Given the description of an element on the screen output the (x, y) to click on. 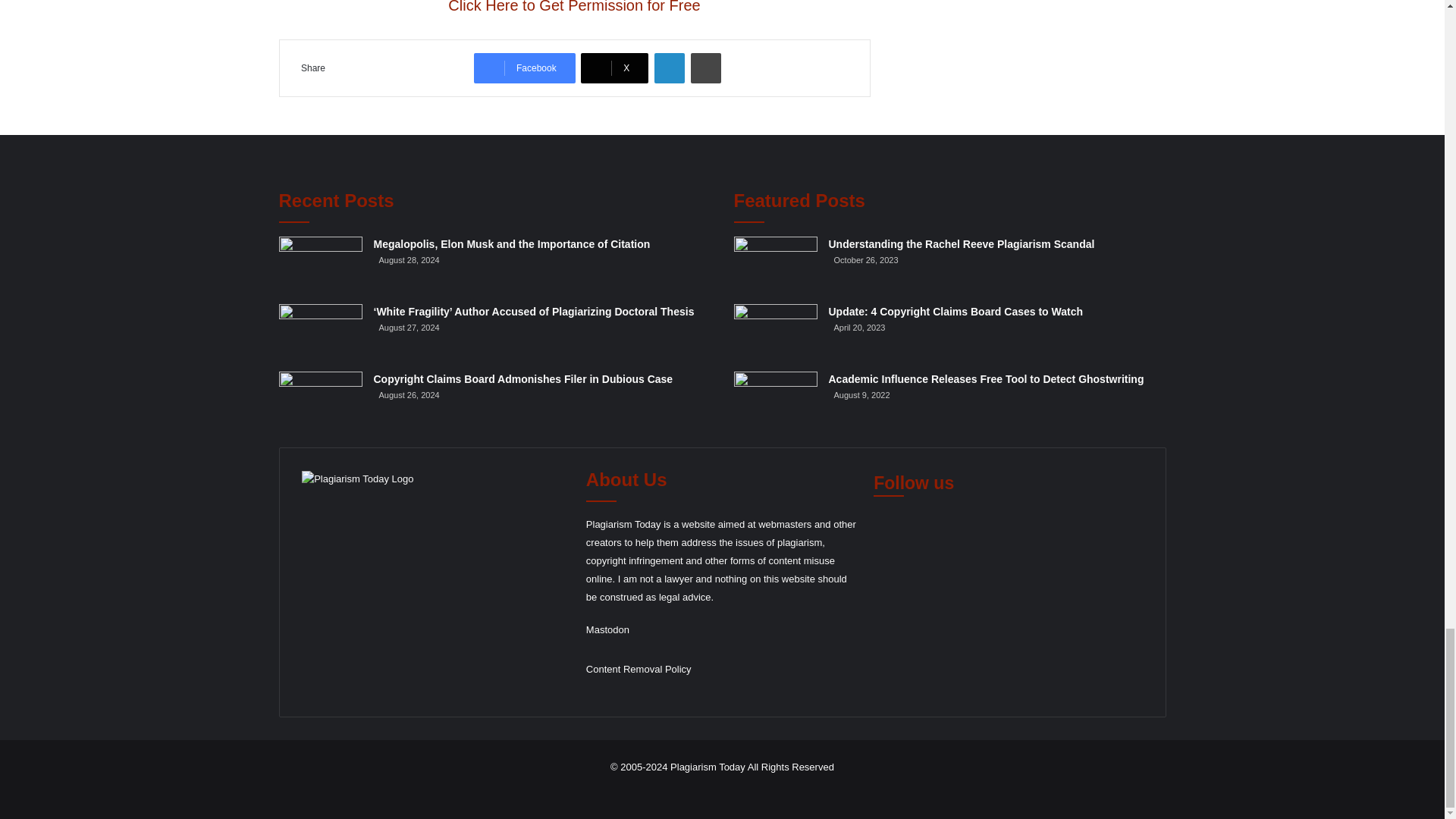
X (613, 68)
Facebook (524, 68)
LinkedIn (668, 68)
Print (705, 68)
